Given the description of an element on the screen output the (x, y) to click on. 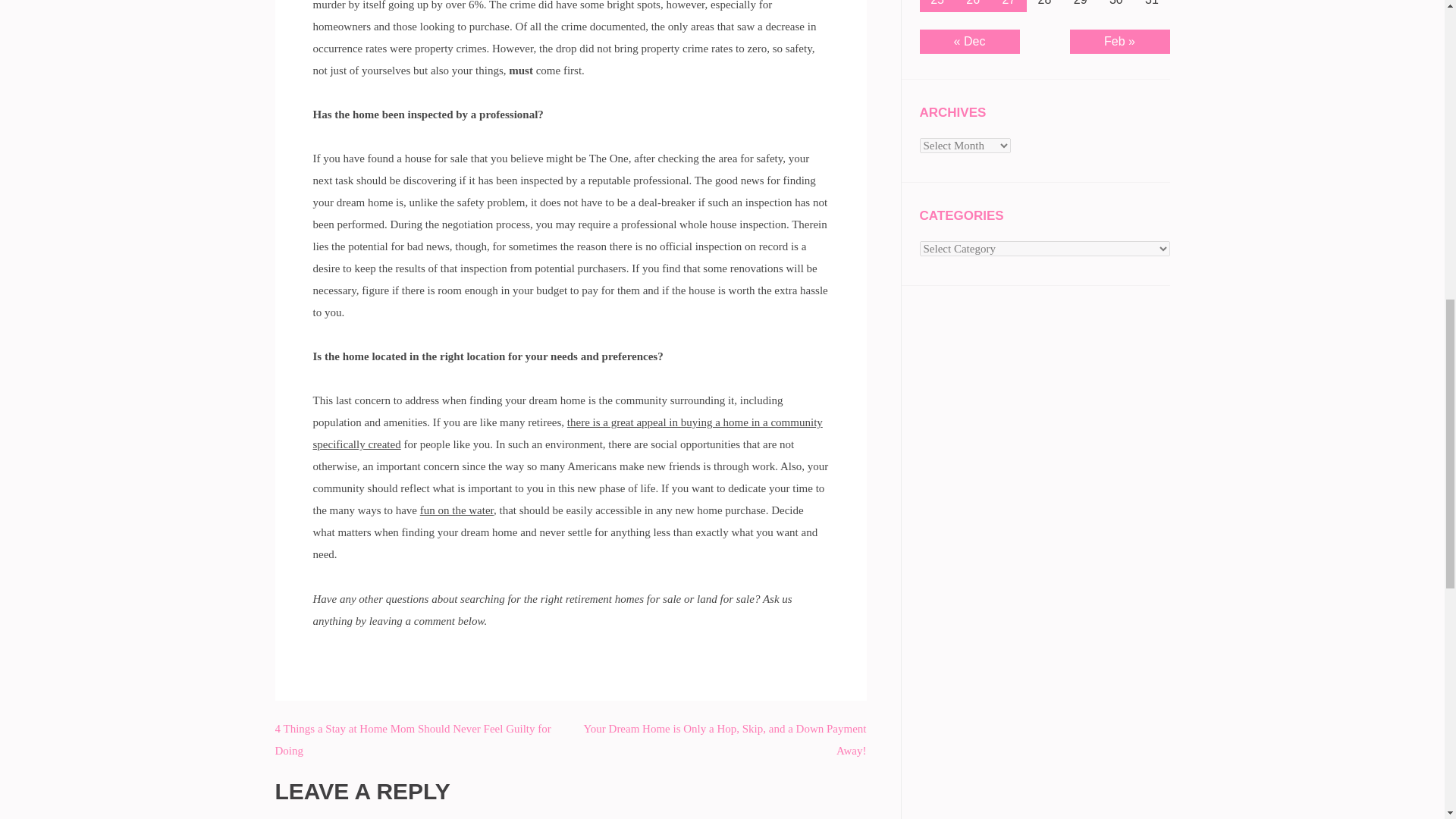
Resort-style amenities (456, 510)
fun on the water (456, 510)
The best link (567, 433)
